Given the description of an element on the screen output the (x, y) to click on. 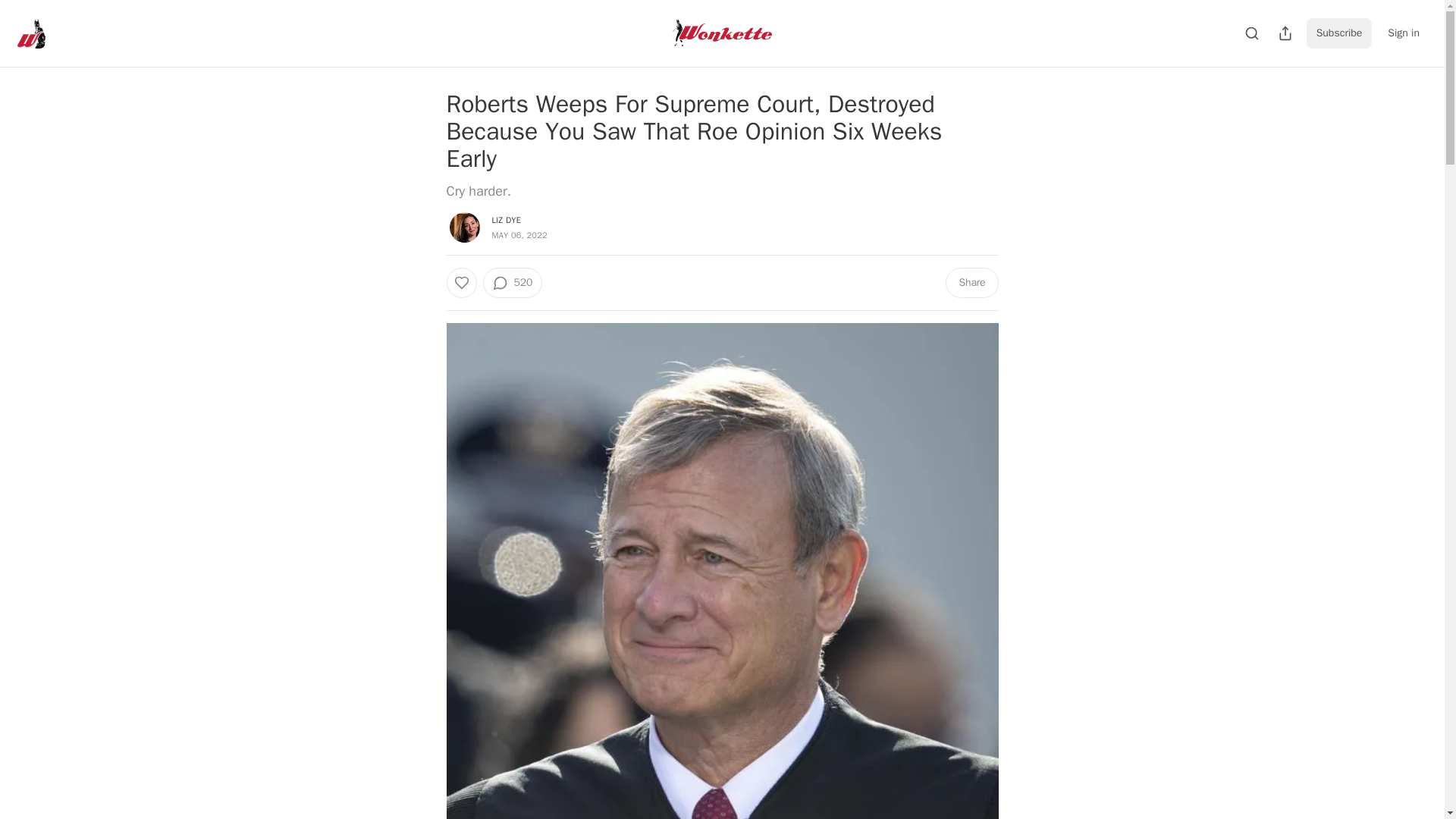
Subscribe (1339, 33)
Share (970, 282)
520 (511, 282)
Sign in (1403, 33)
LIZ DYE (506, 219)
